Given the description of an element on the screen output the (x, y) to click on. 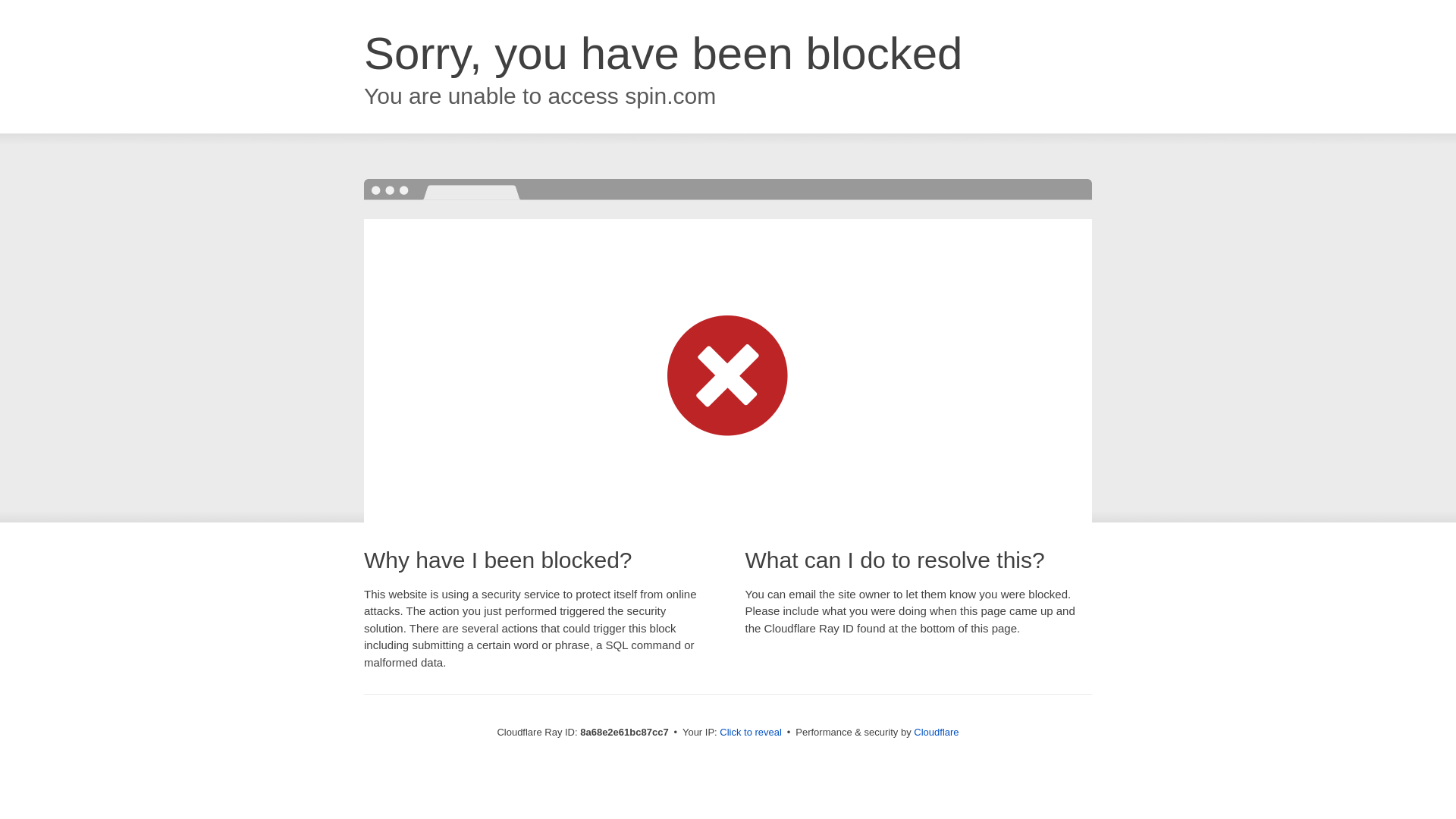
Cloudflare (936, 731)
Click to reveal (750, 732)
